Given the description of an element on the screen output the (x, y) to click on. 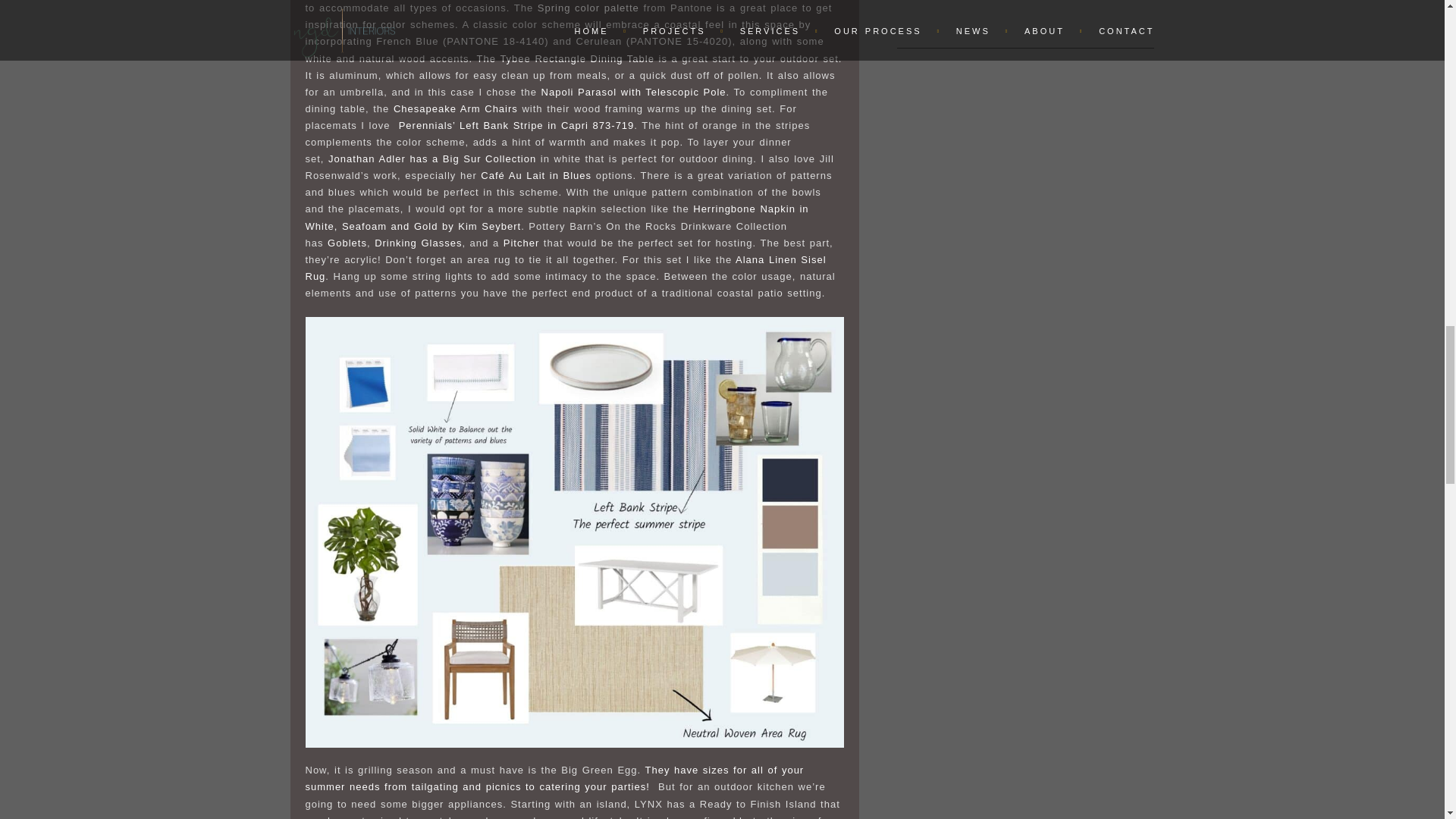
The Tybee Rectangle Dining Table (565, 58)
Spring color palette (588, 7)
Pitcher (520, 242)
Napoli Parasol with Telescopic Pole (633, 91)
Jonathan Adler has a Big Sur Collection (432, 158)
Drinking Glasses (417, 242)
Herringbone Napkin in White, Seafoam and Gold by Kim Seybert (556, 216)
Alana Linen Sisel Rug (564, 267)
Goblets (346, 242)
Chesapeake Arm Chairs (455, 108)
